Given the description of an element on the screen output the (x, y) to click on. 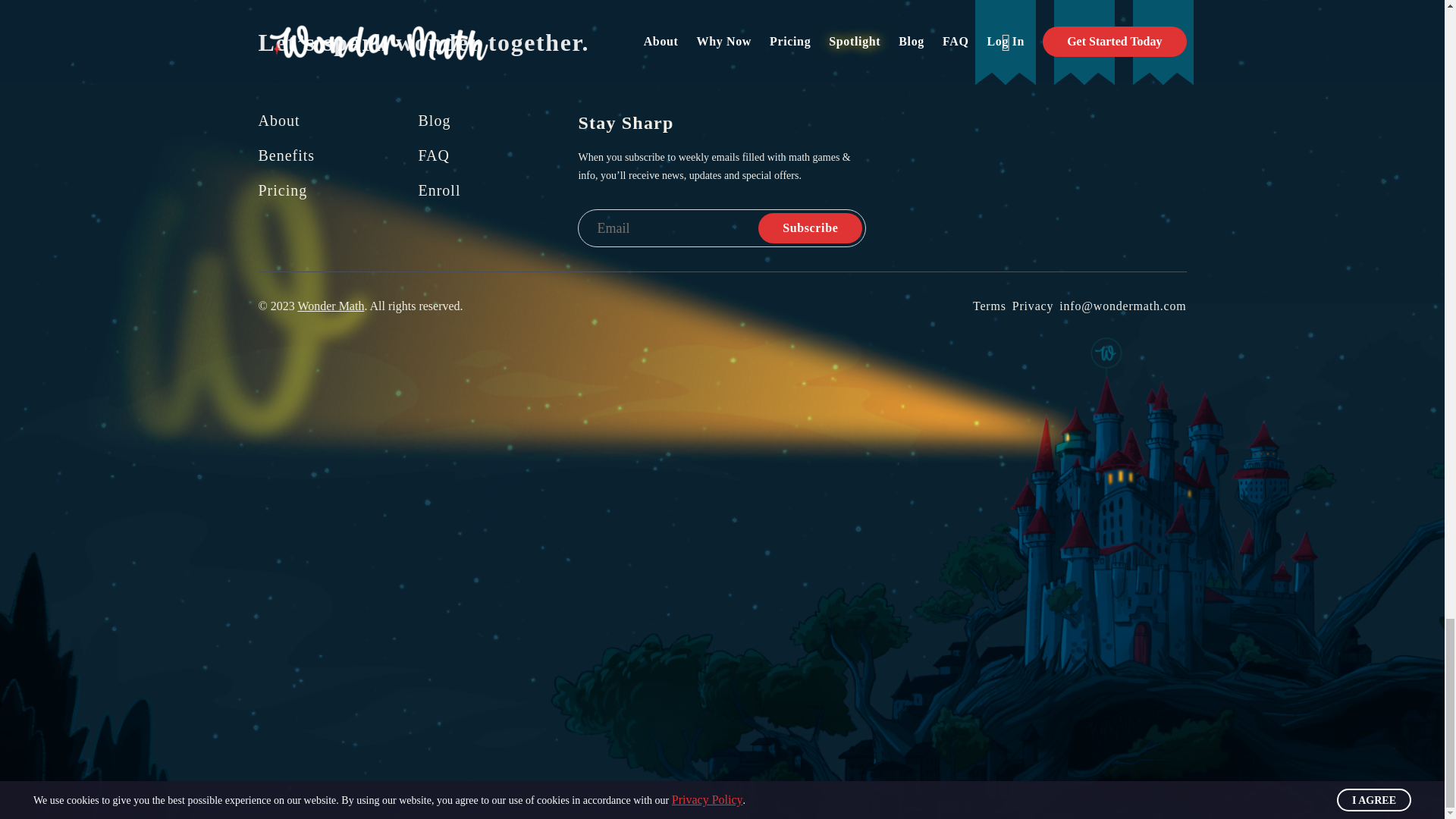
Subscribe (809, 227)
